Given the description of an element on the screen output the (x, y) to click on. 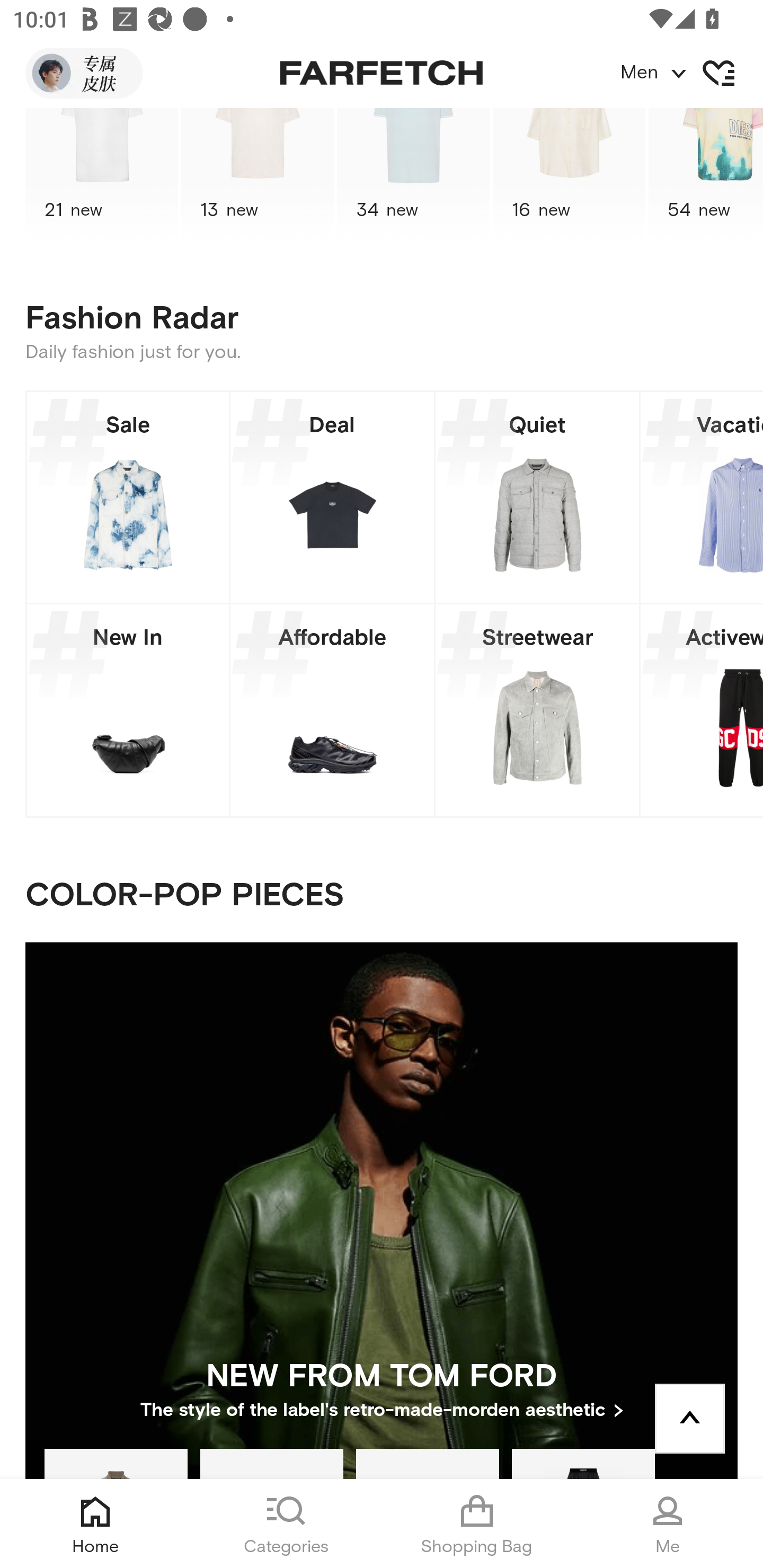
Men (691, 72)
Philipp Plein 21  new (101, 174)
AMIRI 13  new (257, 174)
Polo Ralph Lauren 34  new (413, 174)
LEMAIRE 16  new (568, 174)
Diesel 54  new (705, 174)
Sale (127, 497)
Deal (332, 497)
Quiet (537, 497)
Vacation (701, 497)
New In (127, 709)
Affordable (332, 709)
Streetwear (537, 709)
Activewear (701, 709)
Categories (285, 1523)
Shopping Bag (476, 1523)
Me (667, 1523)
